Given the description of an element on the screen output the (x, y) to click on. 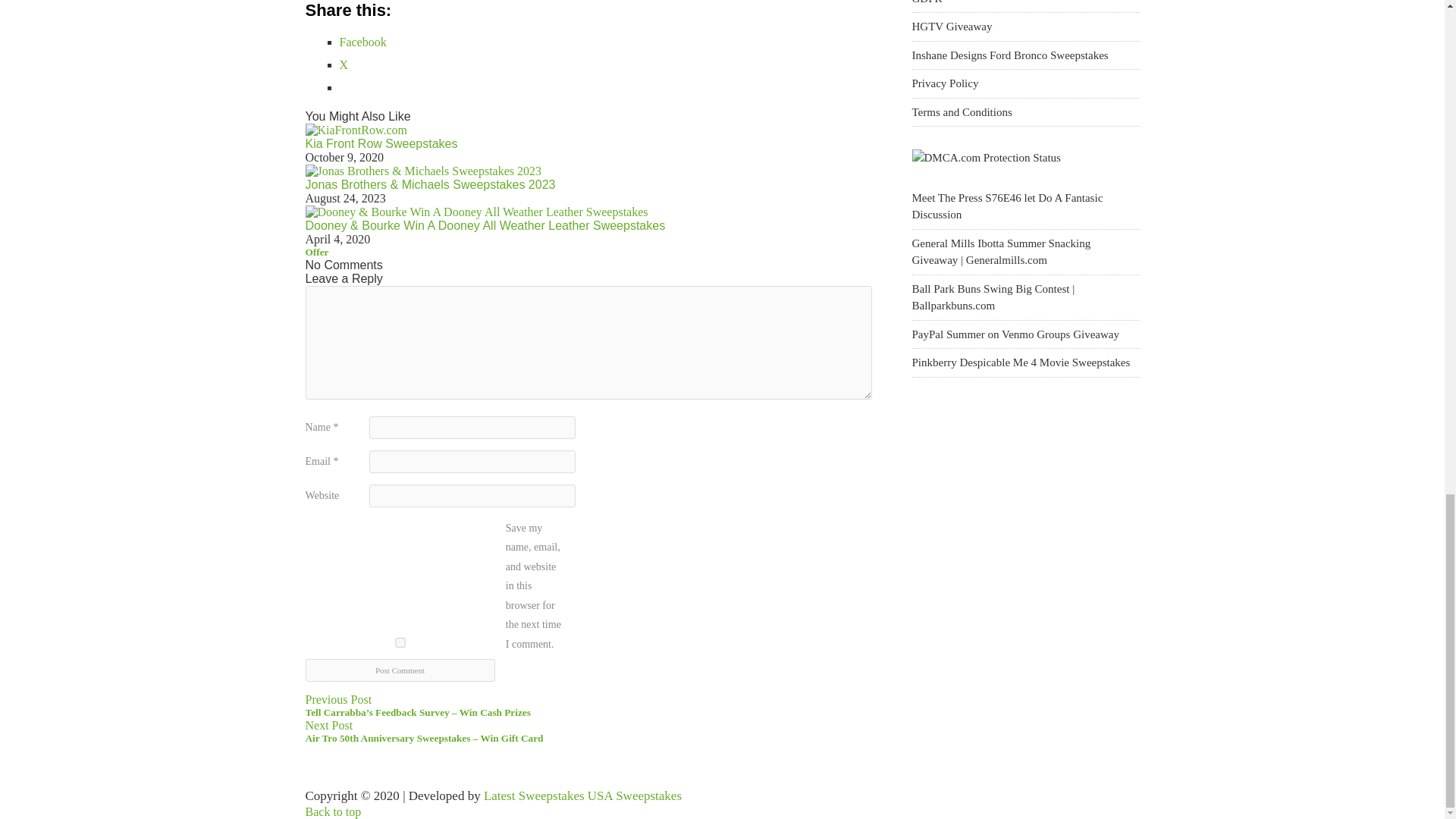
DMCA.com Protection Status (985, 157)
Post Comment (399, 670)
yes (399, 642)
Offer (316, 251)
Posts by Offer (316, 251)
Facebook (363, 42)
X (344, 64)
Post Comment (399, 670)
Click to share on Facebook (363, 42)
Kia Front Row Sweepstakes (380, 143)
Click to share on X (344, 64)
